Given the description of an element on the screen output the (x, y) to click on. 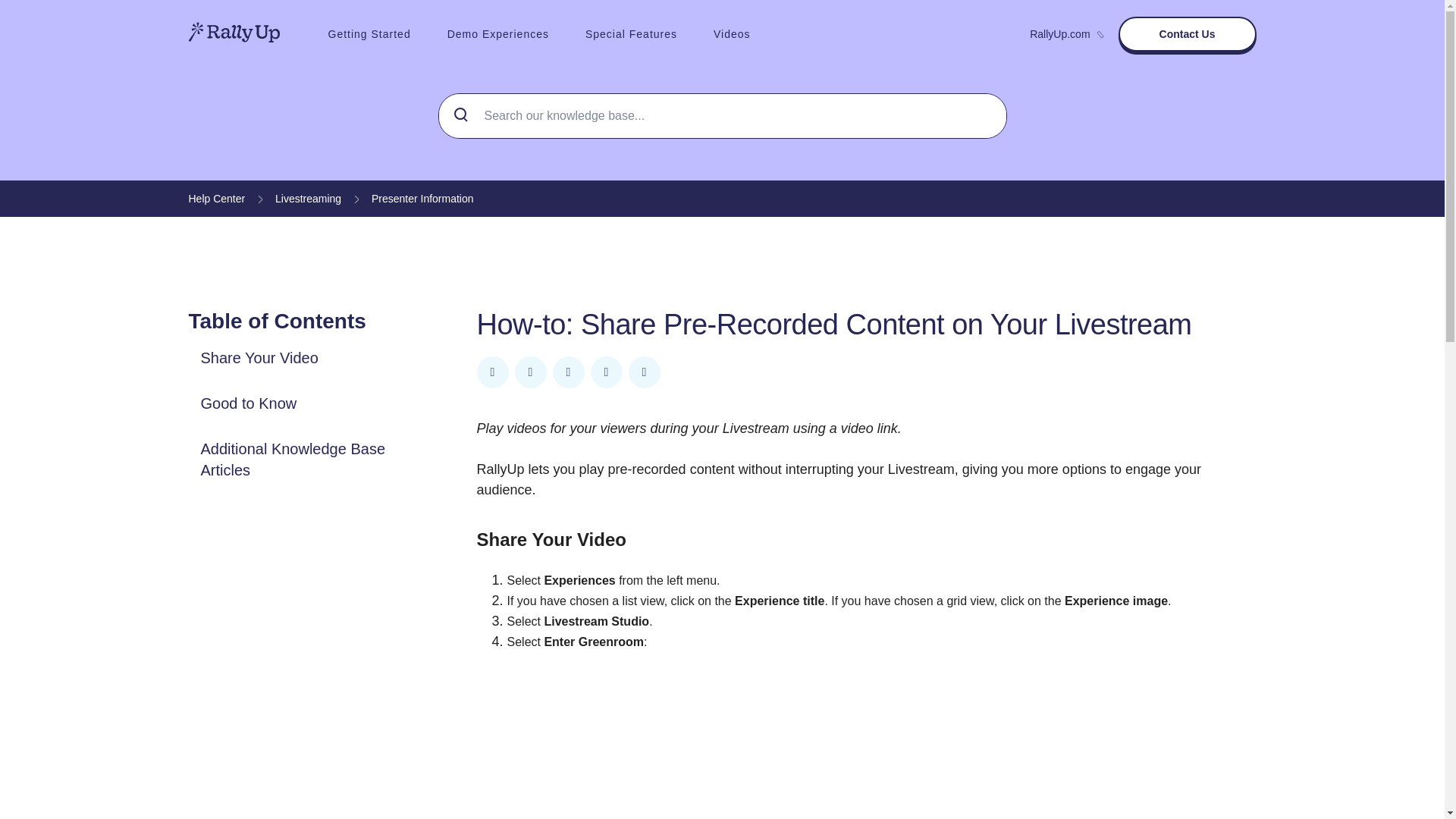
RallyUp.com (1065, 33)
Contact Us (1187, 33)
Livestreaming (307, 198)
Share Your Video (258, 357)
Additional Knowledge Base Articles (293, 459)
Getting Started (368, 33)
Special Features (631, 33)
Demo Experiences (498, 33)
Good to Know (247, 402)
Videos (731, 33)
